Given the description of an element on the screen output the (x, y) to click on. 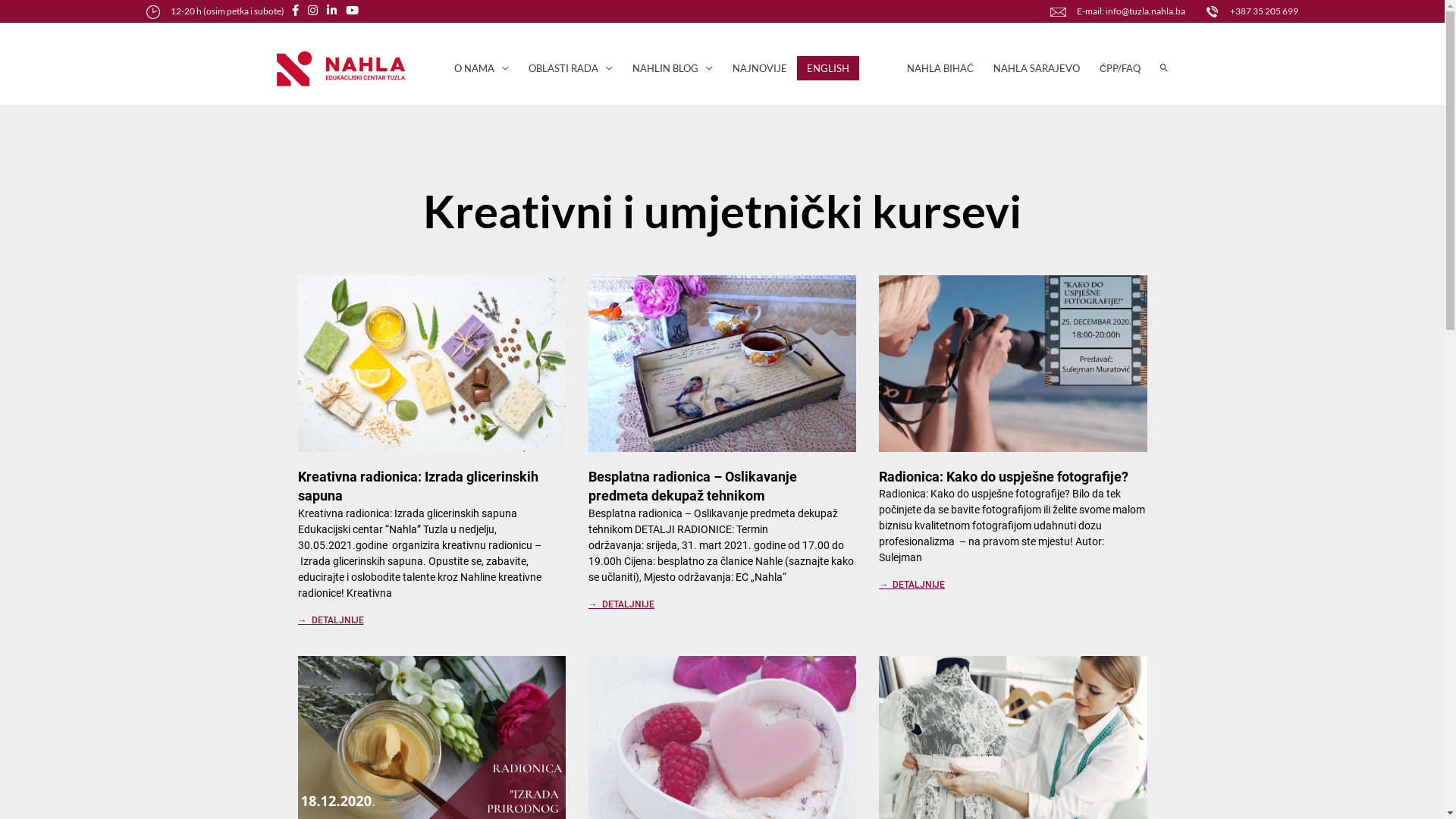
Search Element type: text (35, 12)
NAHLA SARAJEVO Element type: text (1036, 68)
NAHLIN BLOG Element type: text (672, 68)
ENGLISH Element type: text (828, 68)
NAJNOVIJE Element type: text (759, 68)
OBLASTI RADA Element type: text (570, 68)
O NAMA Element type: text (481, 68)
Kreativna radionica: Izrada glicerinskih sapuna Element type: text (417, 485)
